Given the description of an element on the screen output the (x, y) to click on. 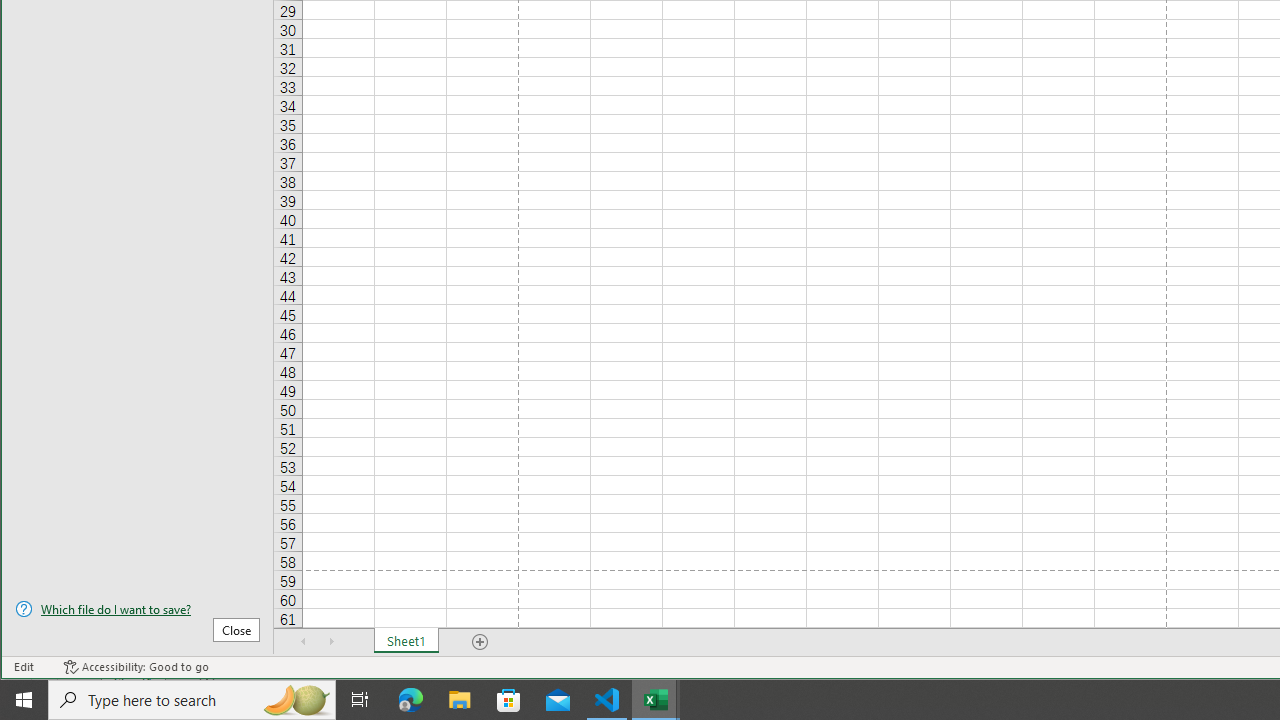
Sheet1 (406, 641)
